Given the description of an element on the screen output the (x, y) to click on. 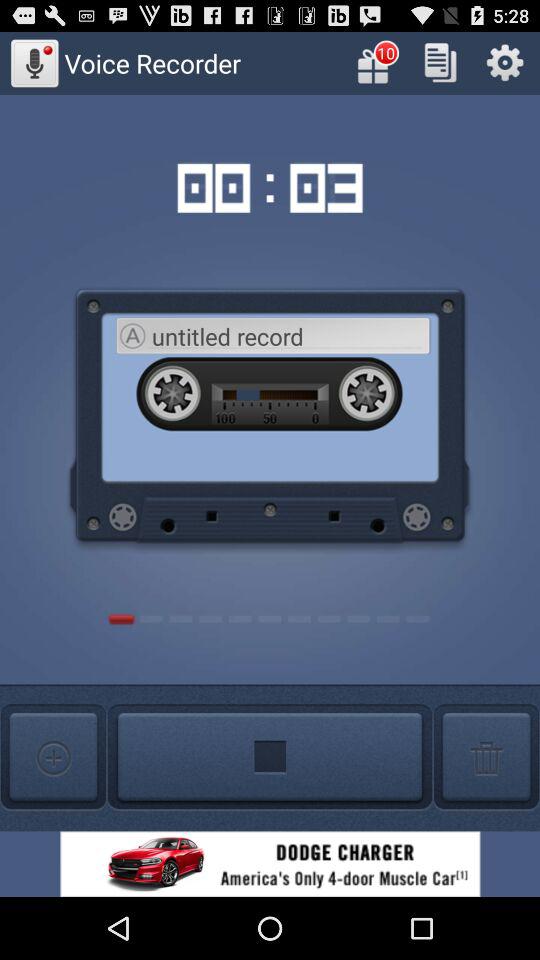
delete option (486, 757)
